Given the description of an element on the screen output the (x, y) to click on. 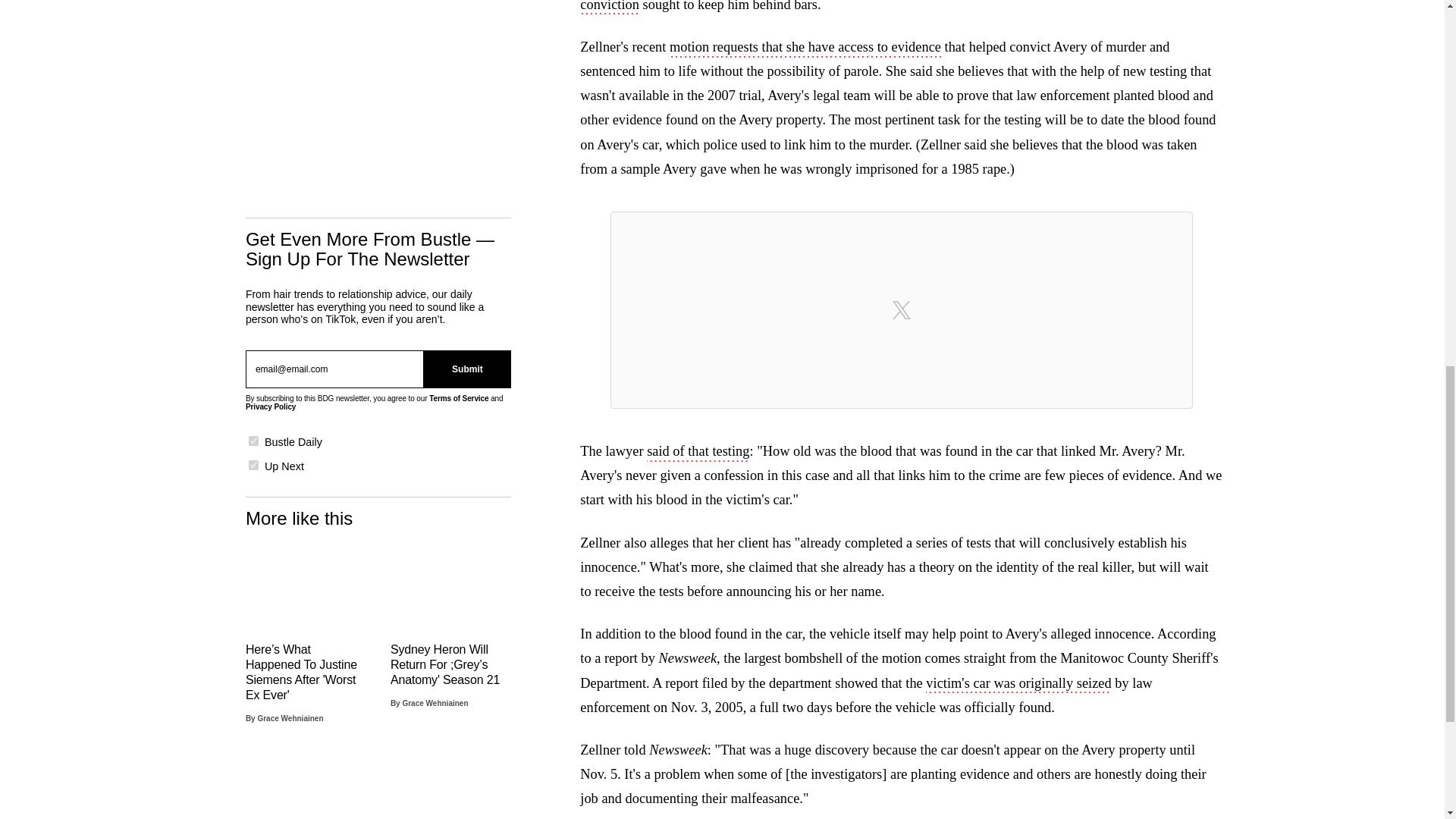
said of that testing (697, 452)
Terms of Service (458, 397)
victim's car was originally seized (1018, 684)
motion requests that she have access to evidence (804, 48)
Submit (467, 369)
Privacy Policy (270, 406)
a wrongful conviction (884, 7)
